Given the description of an element on the screen output the (x, y) to click on. 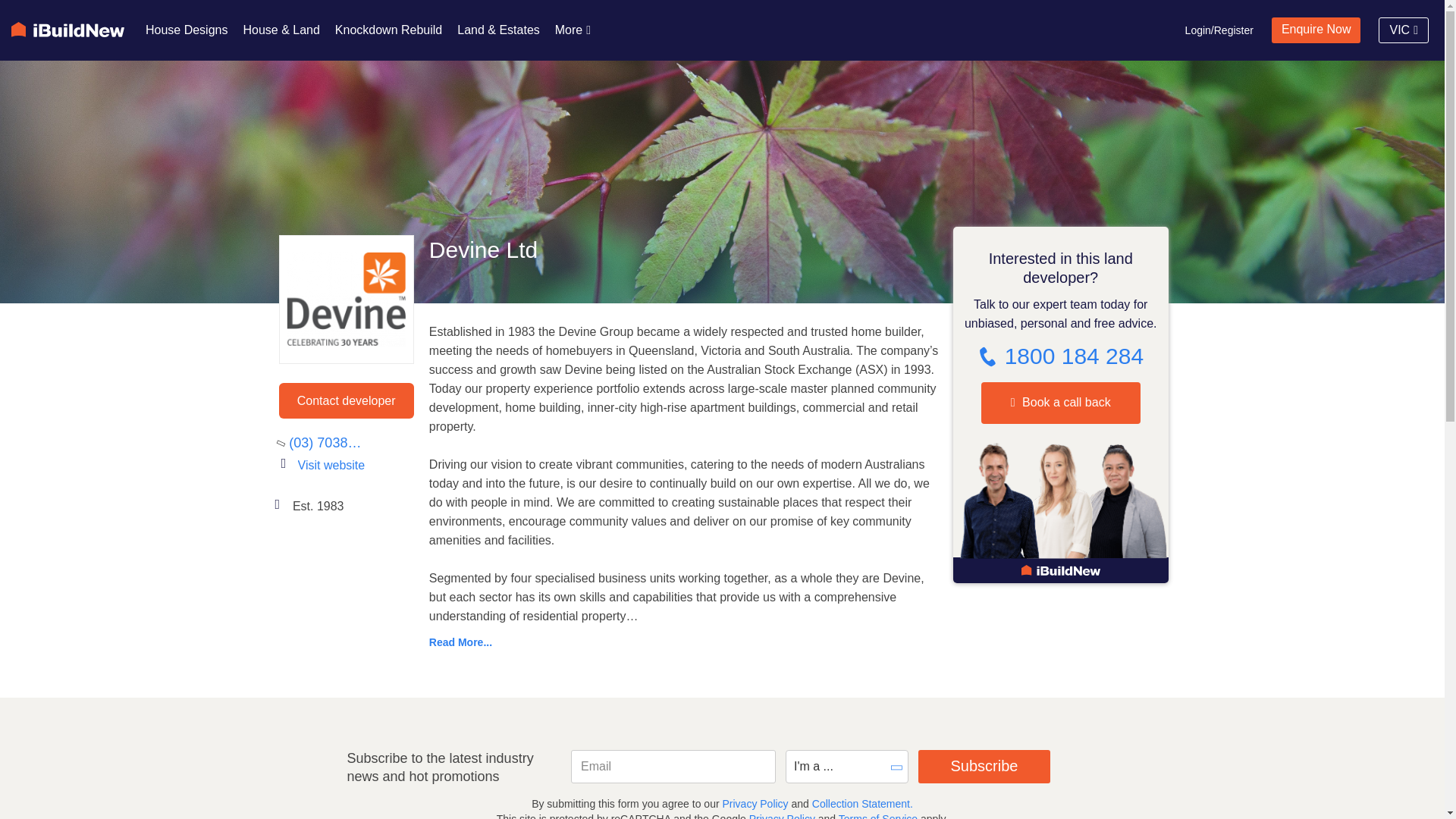
Knockdown Rebuild (388, 30)
House Designs (186, 30)
Contact developer (346, 400)
Read More... (684, 642)
Subscribe (983, 766)
Collection Statement. (862, 803)
iBuildNew (67, 28)
1800 184 284 (1059, 355)
Book a call back (1060, 403)
Privacy Policy (782, 816)
Visit website (355, 465)
Terms of Service (877, 816)
Privacy Policy (754, 803)
